Given the description of an element on the screen output the (x, y) to click on. 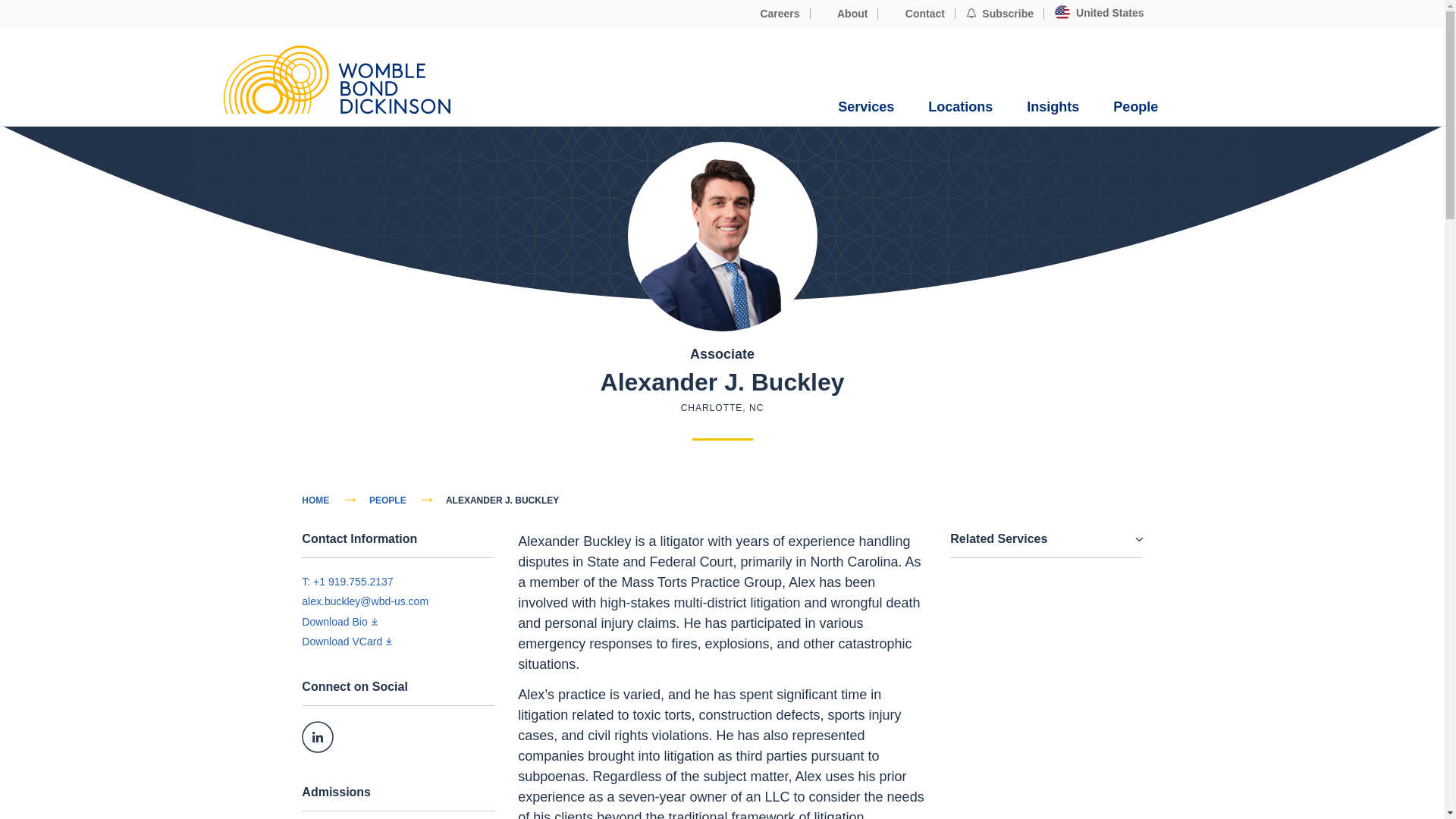
Careers (771, 13)
Locations (960, 107)
Services (865, 107)
Contact (916, 13)
About (844, 13)
United States (1098, 13)
